Given the description of an element on the screen output the (x, y) to click on. 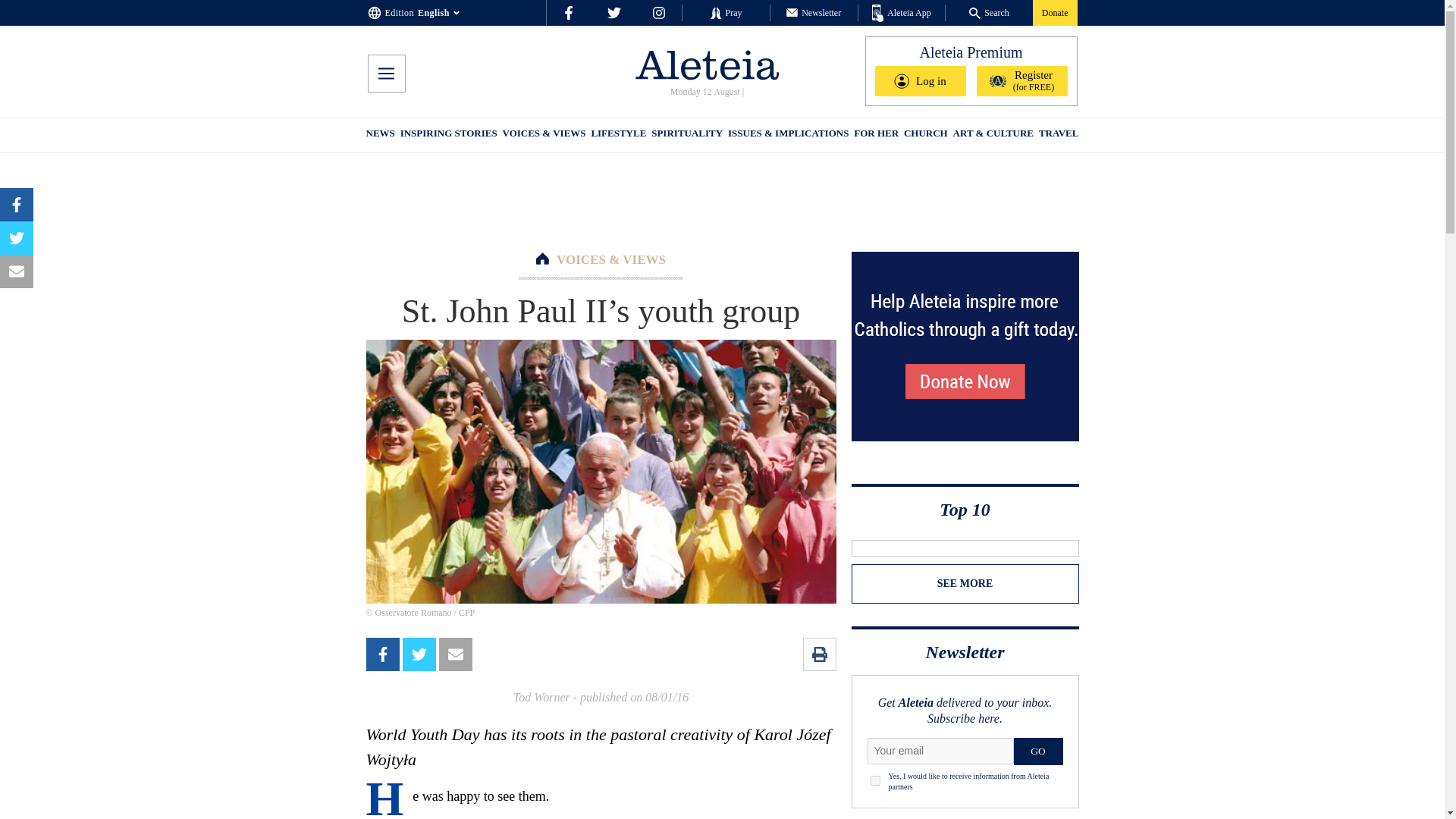
Pray (725, 12)
LIFESTYLE (618, 134)
TRAVEL (1058, 134)
Log in (920, 81)
Donate (1054, 12)
SPIRITUALITY (686, 134)
1 (875, 780)
INSPIRING STORIES (448, 134)
Aleteia App (901, 13)
FOR HER (875, 134)
